Given the description of an element on the screen output the (x, y) to click on. 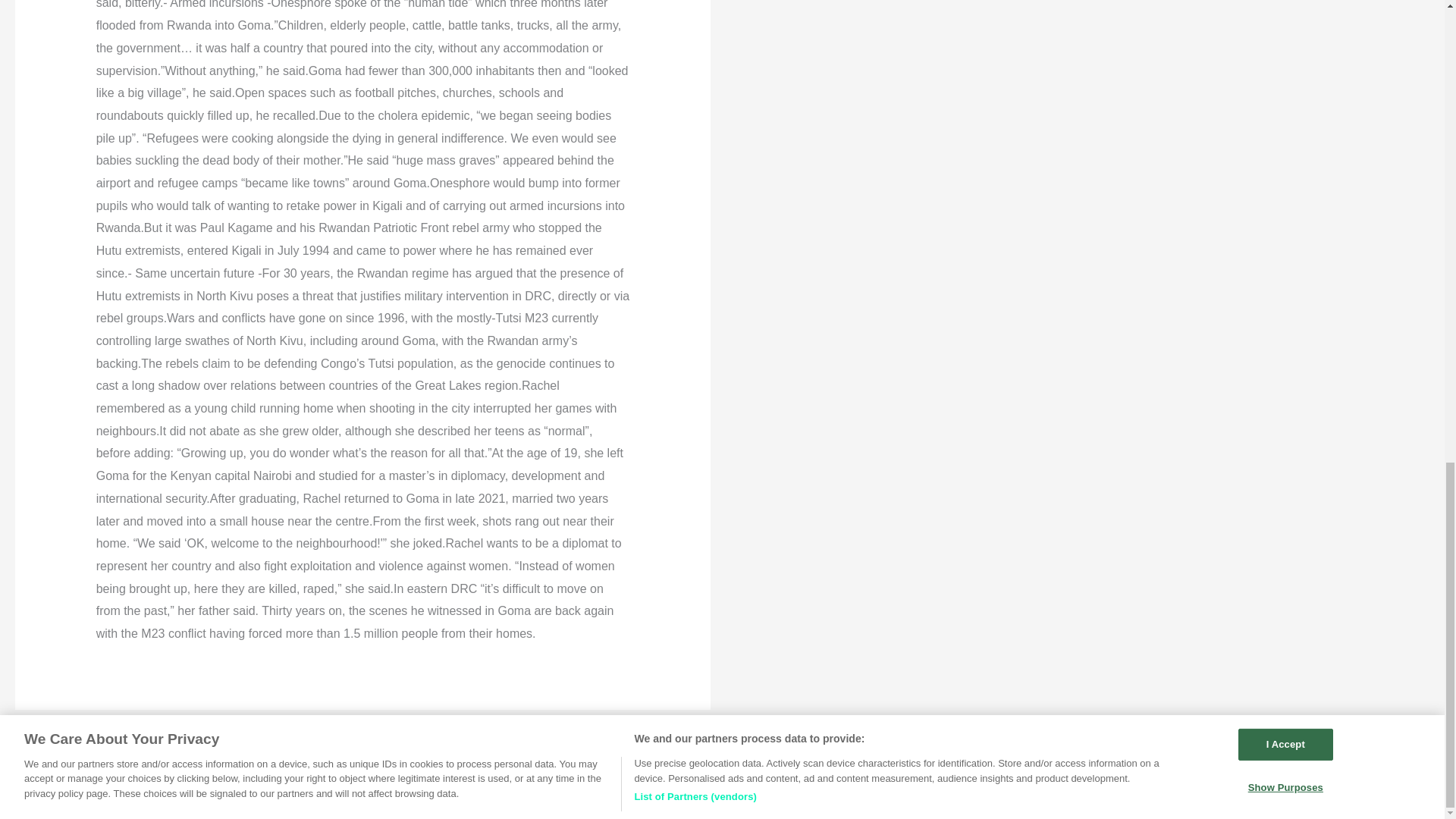
Terms of use (818, 788)
